Given the description of an element on the screen output the (x, y) to click on. 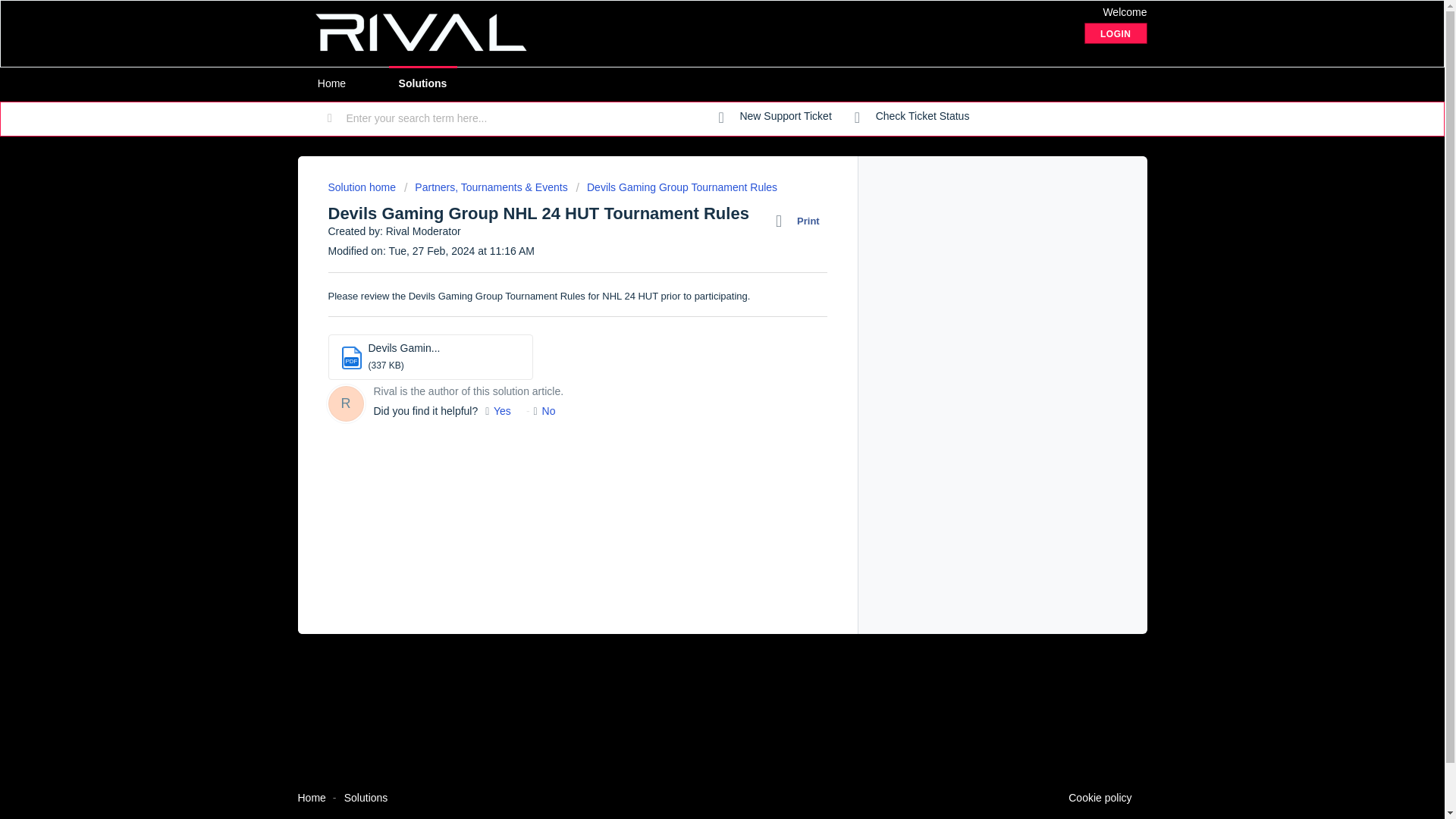
Devils Gaming Group Tournament Rules (676, 186)
Check ticket status (911, 116)
New Support Ticket (775, 116)
Solution home (362, 186)
Solutions (422, 83)
New support ticket (775, 116)
Solutions (365, 797)
Home (331, 83)
Cookie policy (1099, 798)
Home (310, 797)
Devils Gamin... (404, 347)
Print this Article (801, 220)
Check Ticket Status (911, 116)
Print (801, 220)
Why we love Cookies (1099, 798)
